Given the description of an element on the screen output the (x, y) to click on. 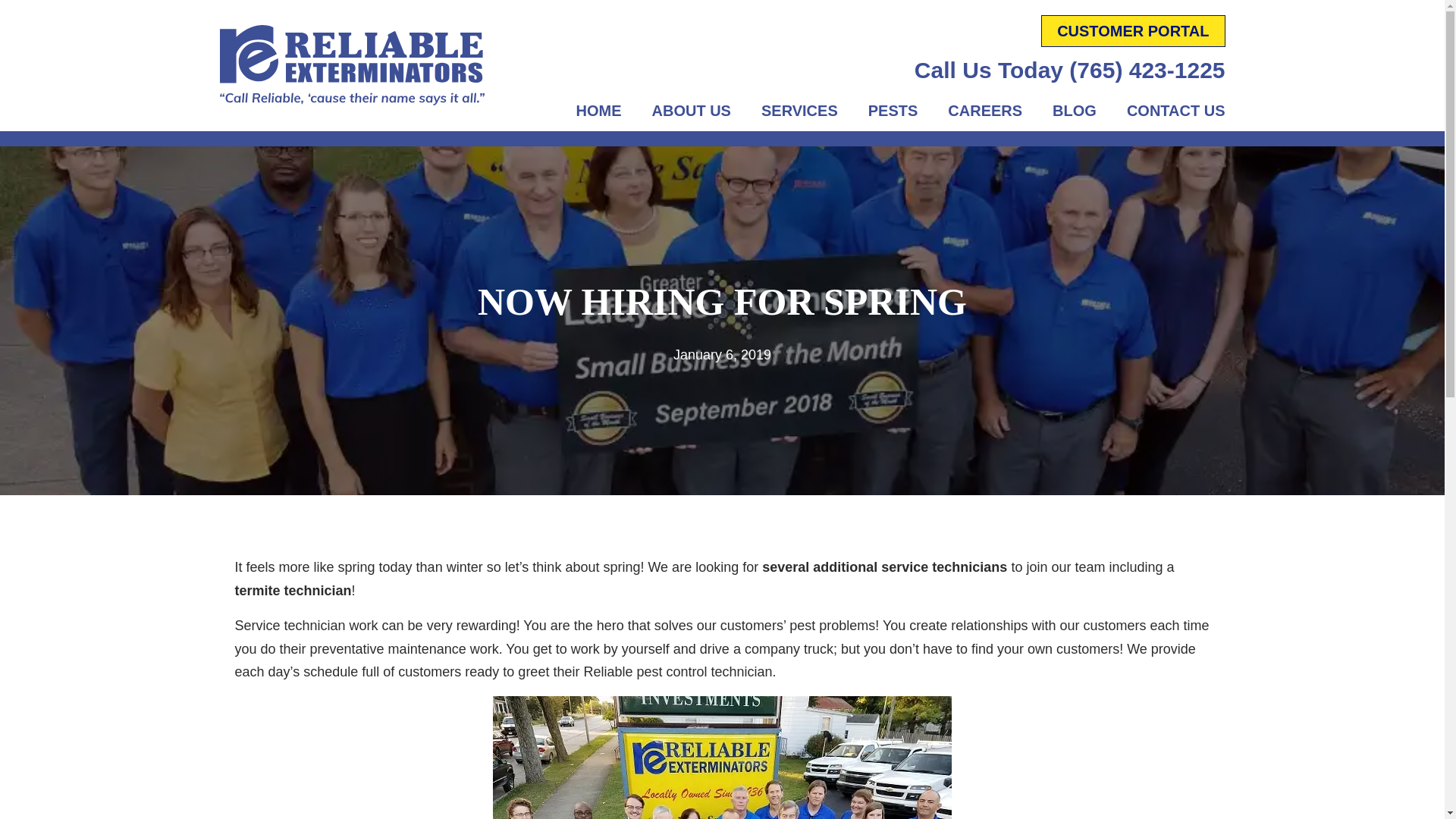
PESTS (893, 110)
SERVICES (799, 110)
CAREERS (984, 110)
HOME (598, 110)
BLOG (1074, 110)
ABOUT US (691, 110)
Logo2 (351, 65)
CUSTOMER PORTAL (1132, 30)
CONTACT US (1176, 110)
